Given the description of an element on the screen output the (x, y) to click on. 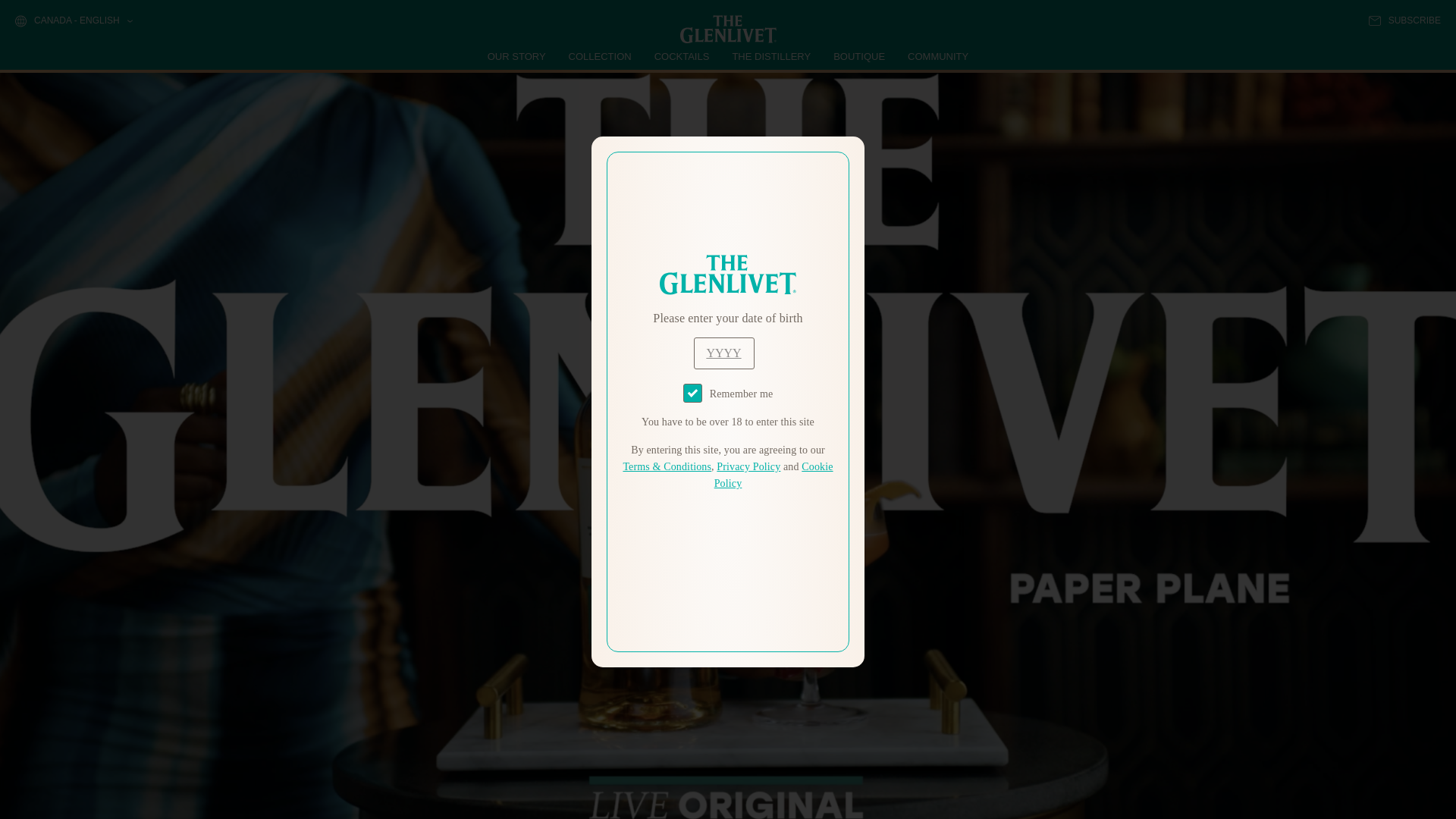
THE DISTILLERY (771, 56)
COLLECTION (600, 56)
Cookie Policy (773, 474)
CANADA - ENGLISH (73, 21)
year (723, 353)
OUR STORY (516, 56)
SUBSCRIBE (1404, 20)
COMMUNITY (937, 56)
COCKTAILS (681, 56)
Privacy Policy (748, 466)
